Given the description of an element on the screen output the (x, y) to click on. 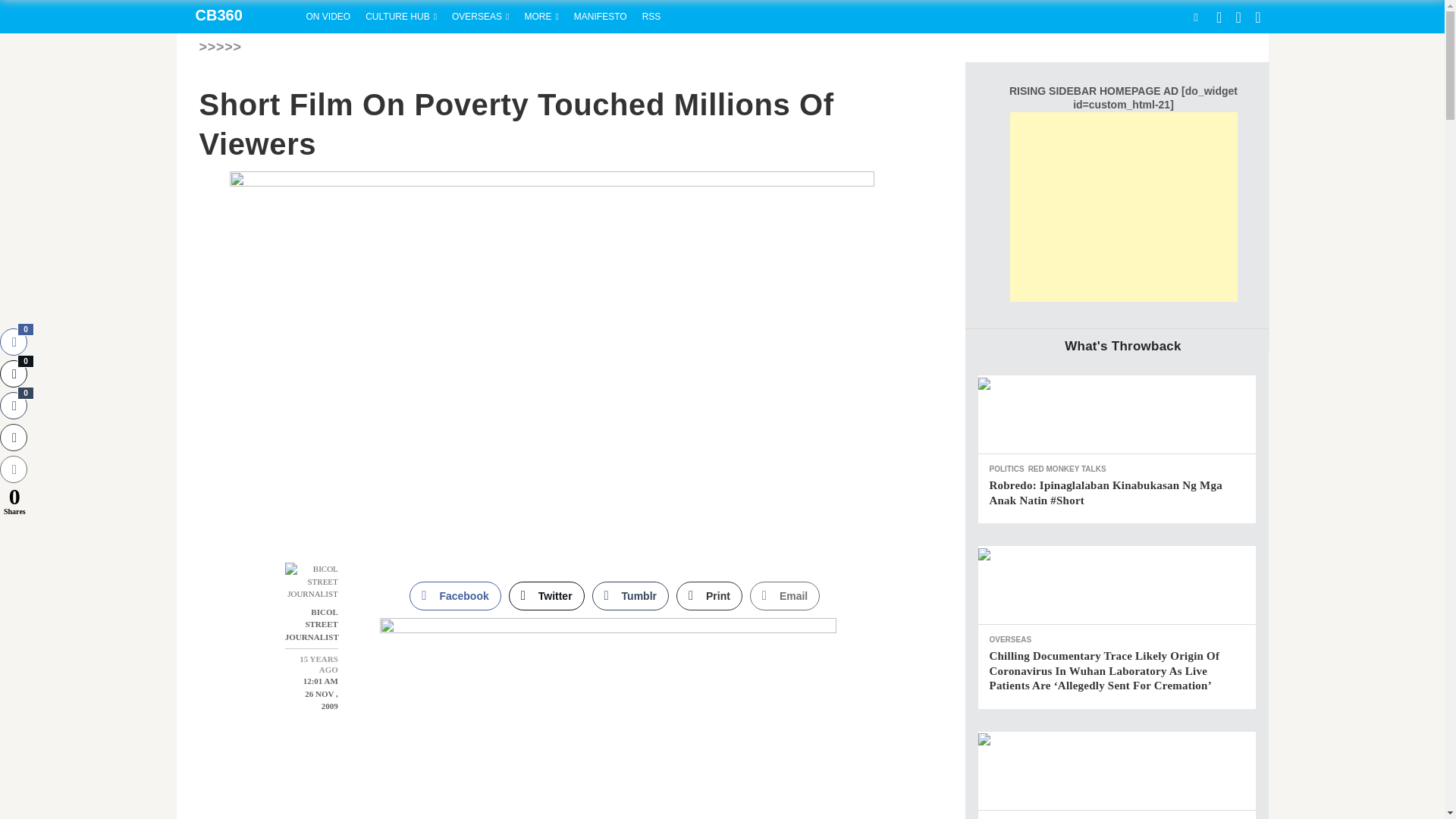
About Us (600, 16)
CULTURE HUB (401, 16)
world (480, 16)
ON VIDEO (328, 16)
MORE (541, 16)
CB360 (237, 16)
OVERSEAS (480, 16)
